Given the description of an element on the screen output the (x, y) to click on. 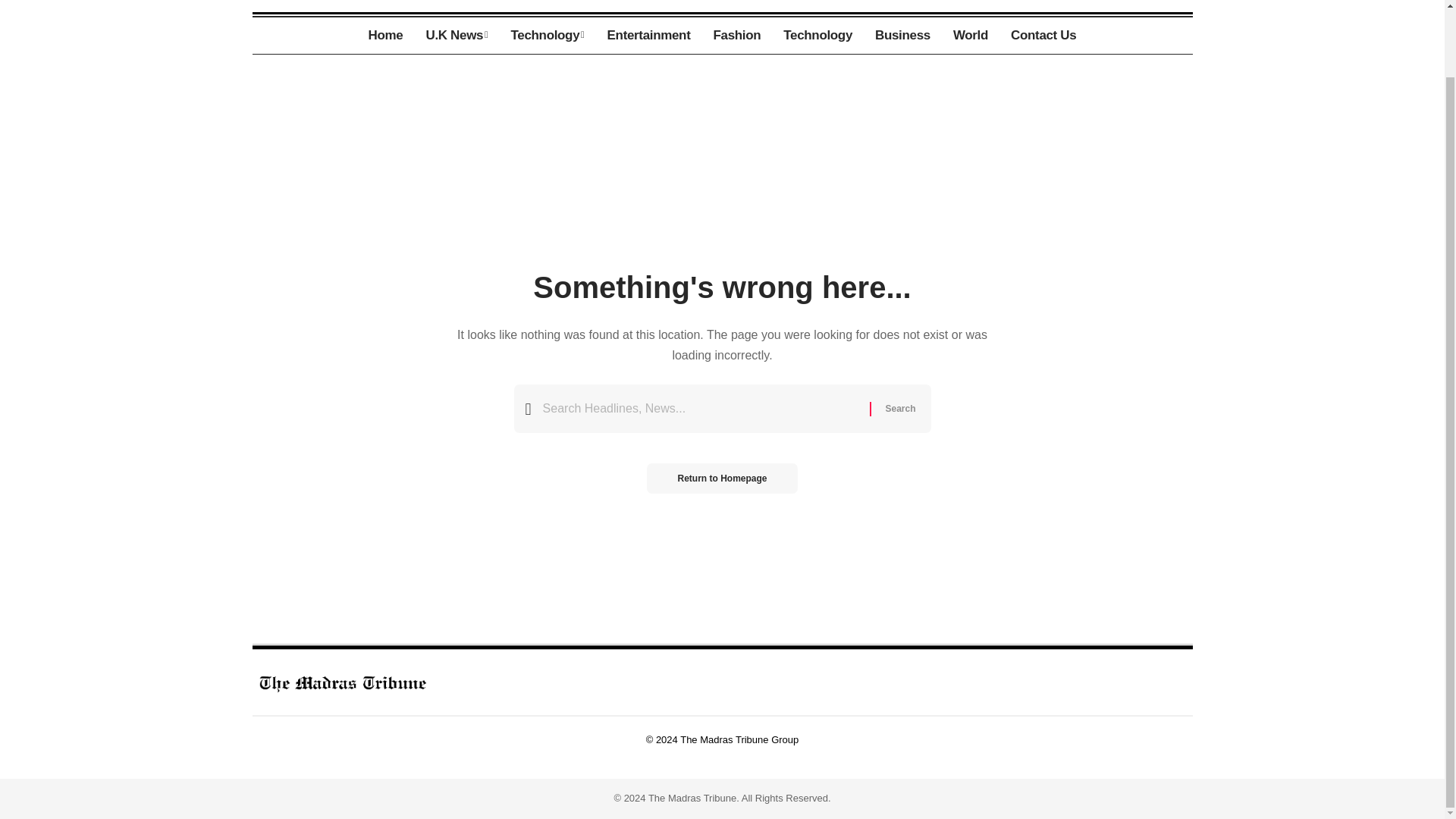
Entertainment (648, 35)
World (970, 35)
Search (899, 408)
U.K News (456, 35)
Contact Us (1042, 35)
Business (902, 35)
Technology (817, 35)
Technology (547, 35)
Fashion (736, 35)
Home (385, 35)
